Given the description of an element on the screen output the (x, y) to click on. 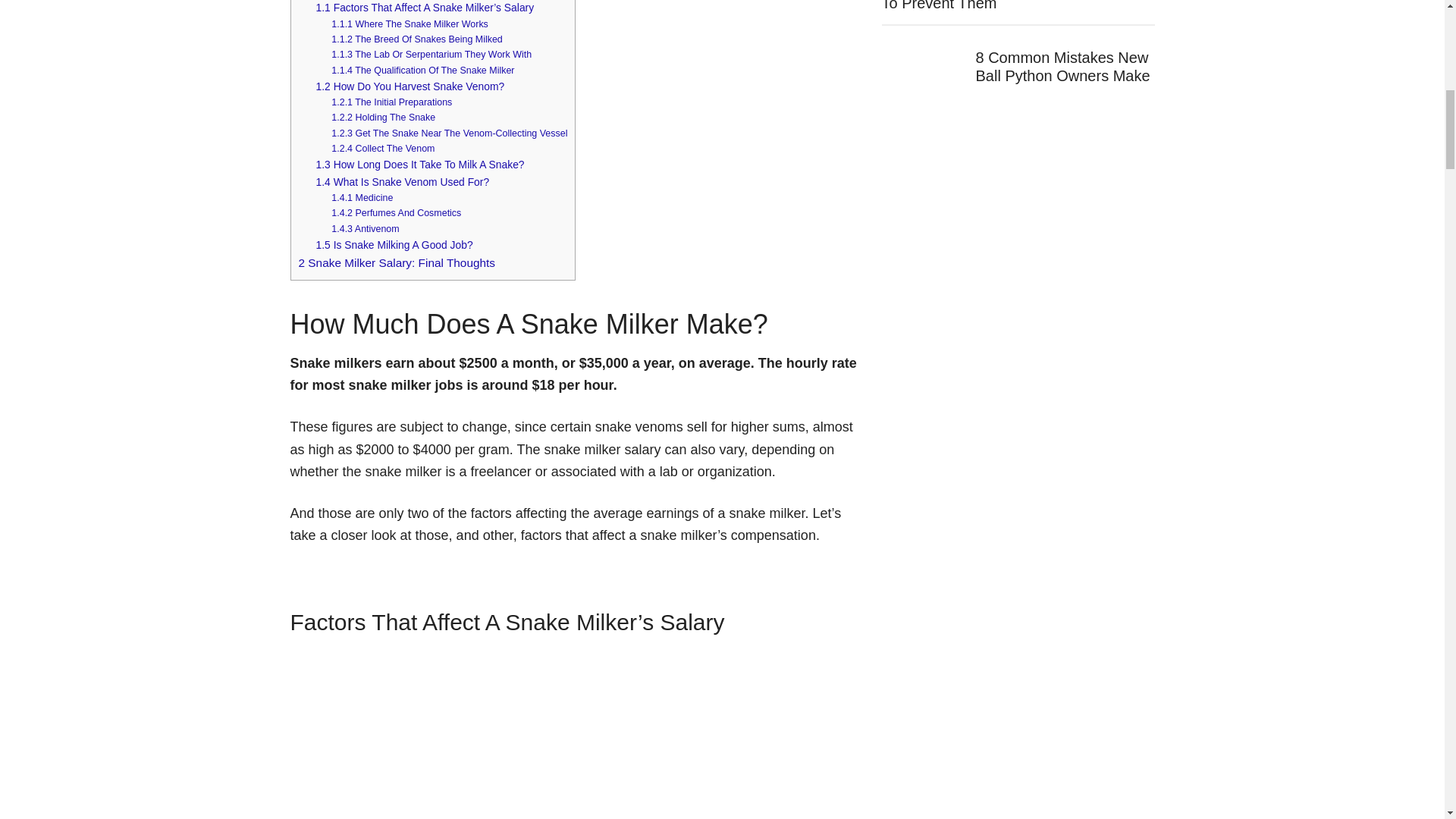
1.1.1 Where The Snake Milker Works (409, 23)
1.2 How Do You Harvest Snake Venom? (410, 86)
1.1.3 The Lab Or Serpentarium They Work With (431, 54)
1.2.4 Collect The Venom (382, 148)
1.2.3 Get The Snake Near The Venom-Collecting Vessel (449, 132)
1.3 How Long Does It Take To Milk A Snake? (419, 164)
1.1.2 The Breed Of Snakes Being Milked (416, 39)
1.1.4 The Qualification Of The Snake Milker (422, 70)
1.2.2 Holding The Snake (383, 117)
1.2.1 The Initial Preparations (391, 102)
1.4 What Is Snake Venom Used For? (402, 182)
1.4.2 Perfumes And Cosmetics (396, 213)
1.4.1 Medicine (362, 197)
